Given the description of an element on the screen output the (x, y) to click on. 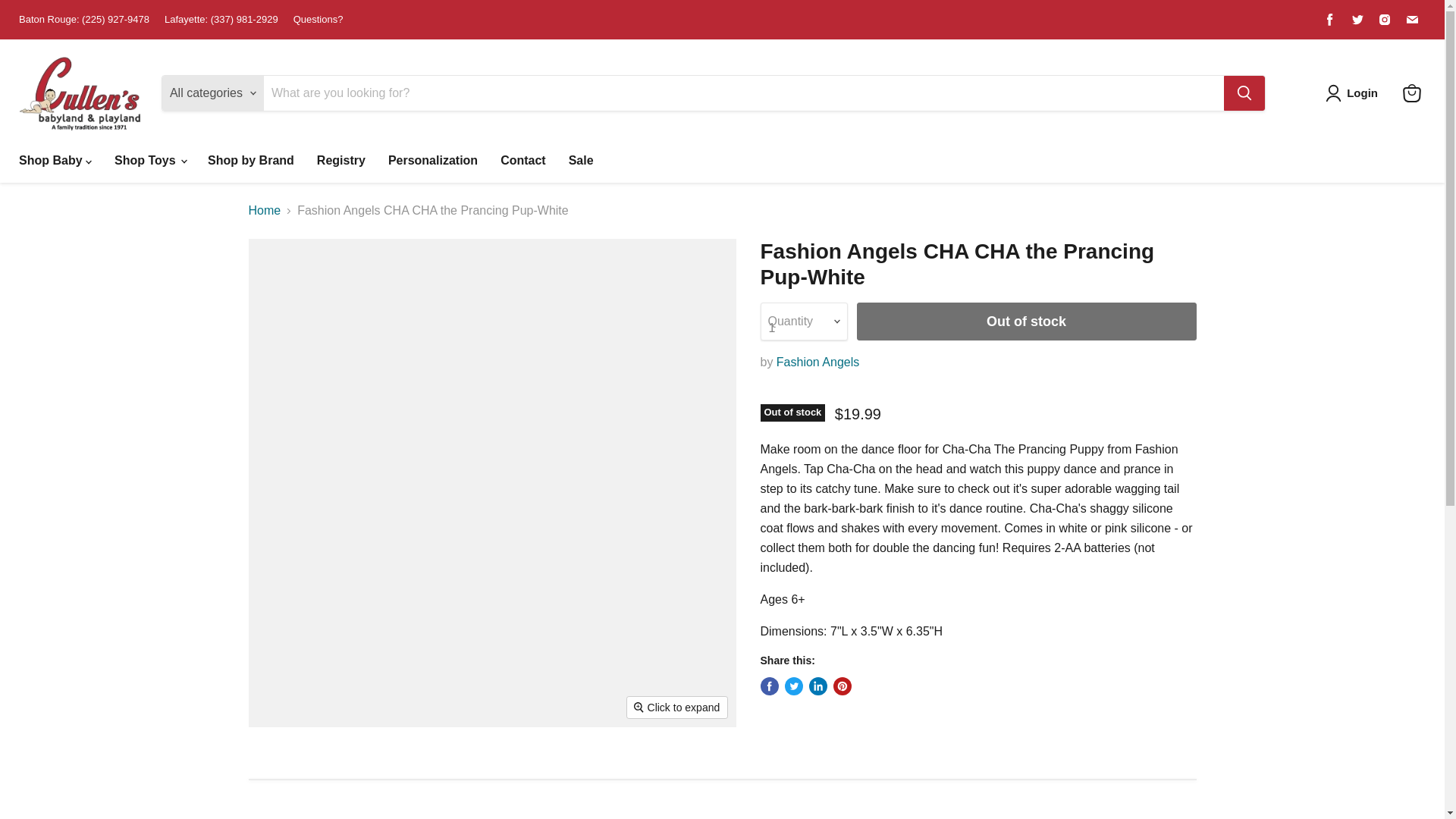
View cart (1411, 92)
Twitter (1357, 19)
Facebook (1329, 19)
Fashion Angels (817, 361)
Questions? (318, 19)
Instagram (1384, 19)
Login (1362, 93)
Find us on Twitter (1357, 19)
Find us on Instagram (1384, 19)
Find us on Email (1411, 19)
